Given the description of an element on the screen output the (x, y) to click on. 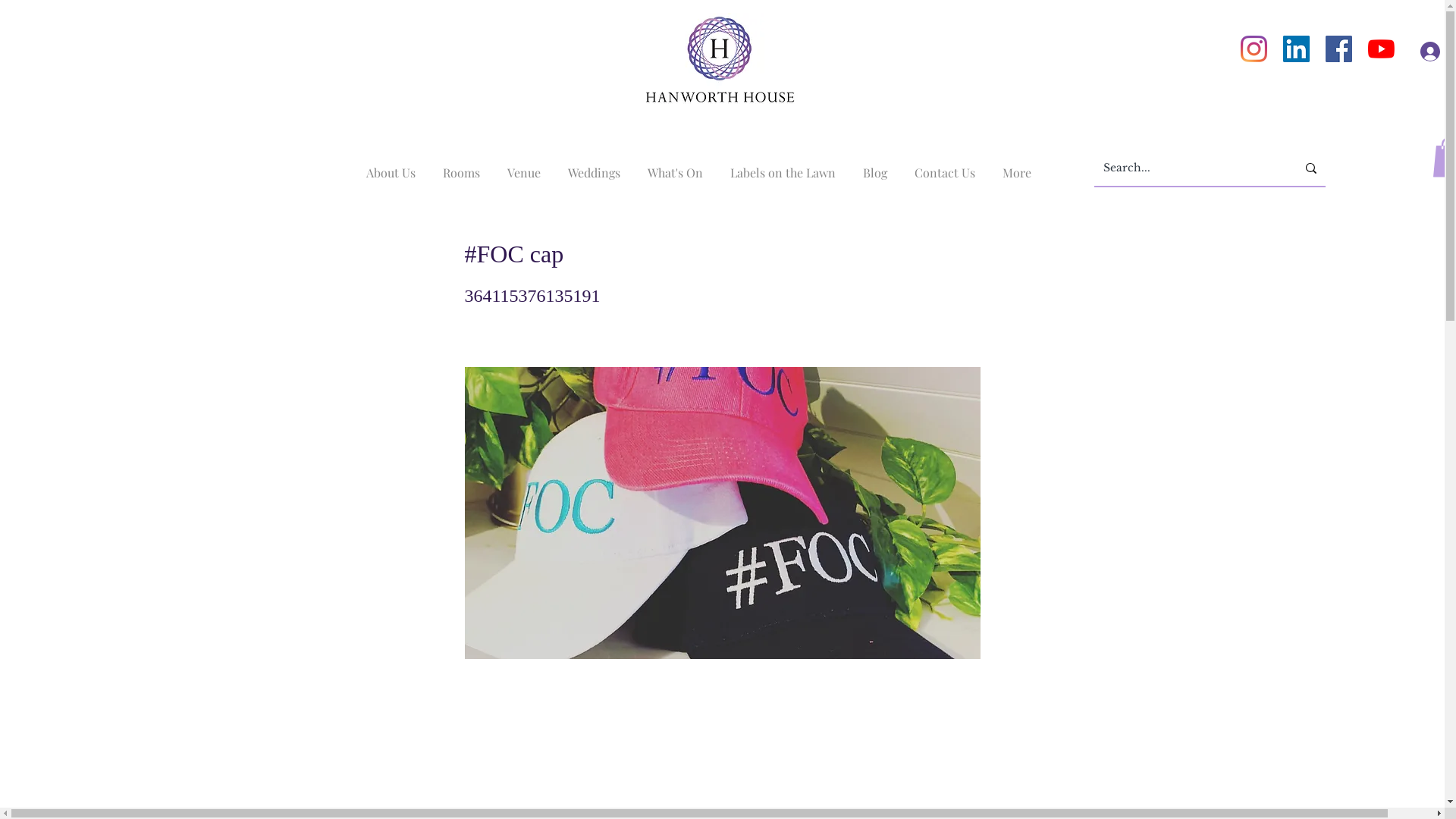
#FOC cap Element type: hover (721, 512)
About Us Element type: text (389, 165)
Rooms Element type: text (461, 165)
Labels on the Lawn Element type: text (781, 165)
Contact Us Element type: text (944, 165)
What's On Element type: text (674, 165)
Venue Element type: text (522, 165)
Blog Element type: text (874, 165)
Weddings Element type: text (593, 165)
